Given the description of an element on the screen output the (x, y) to click on. 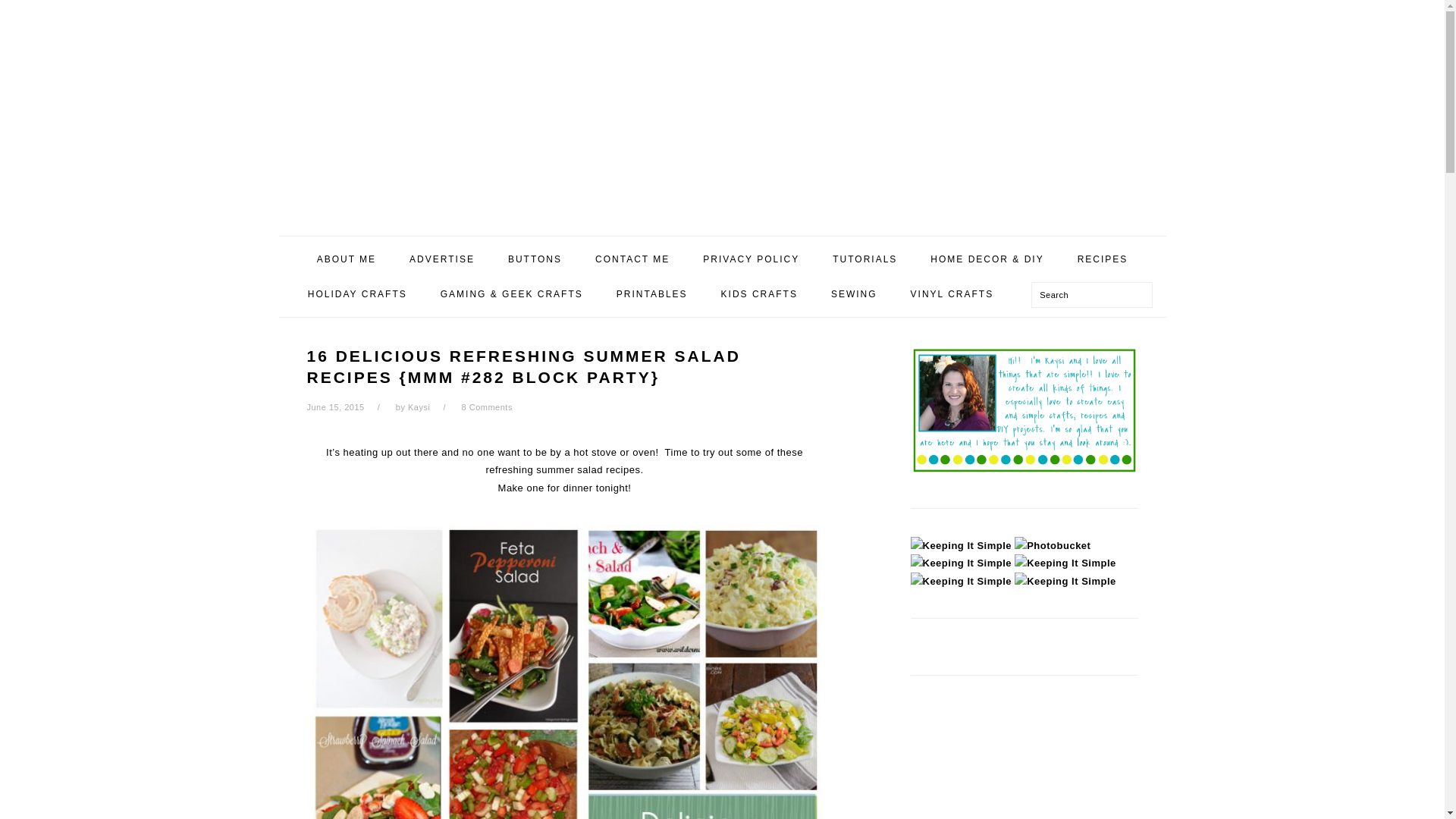
ADVERTISE (441, 258)
8 Comments (486, 406)
HOLIDAY CRAFTS (357, 294)
KIDS CRAFTS (758, 294)
SEWING (854, 294)
RECIPES (1102, 258)
PRINTABLES (651, 294)
